Given the description of an element on the screen output the (x, y) to click on. 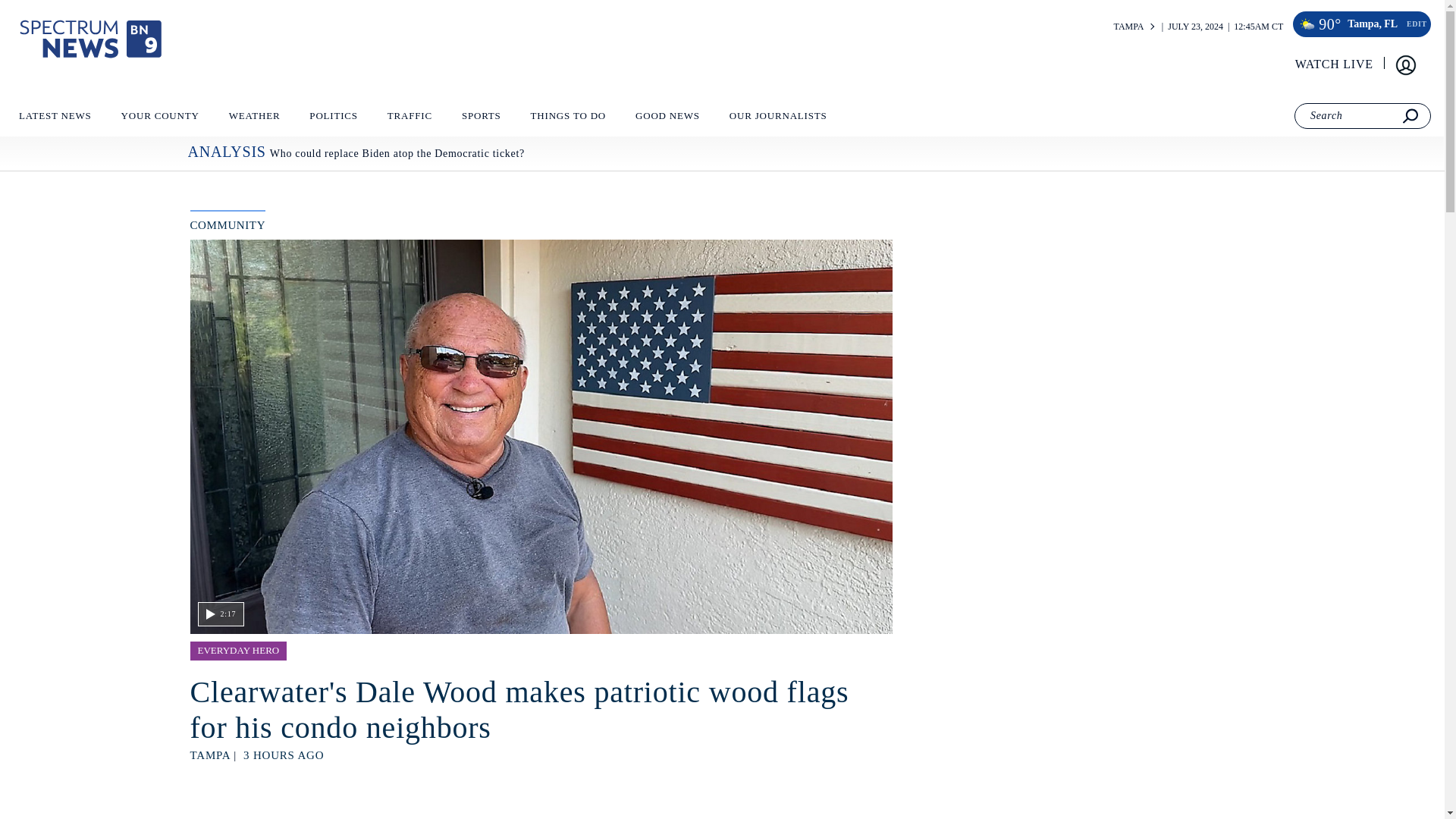
LATEST NEWS (55, 119)
YOUR COUNTY (160, 119)
WATCH LIVE (1334, 64)
Tampa, FL (1372, 23)
TAMPA (1127, 26)
